Given the description of an element on the screen output the (x, y) to click on. 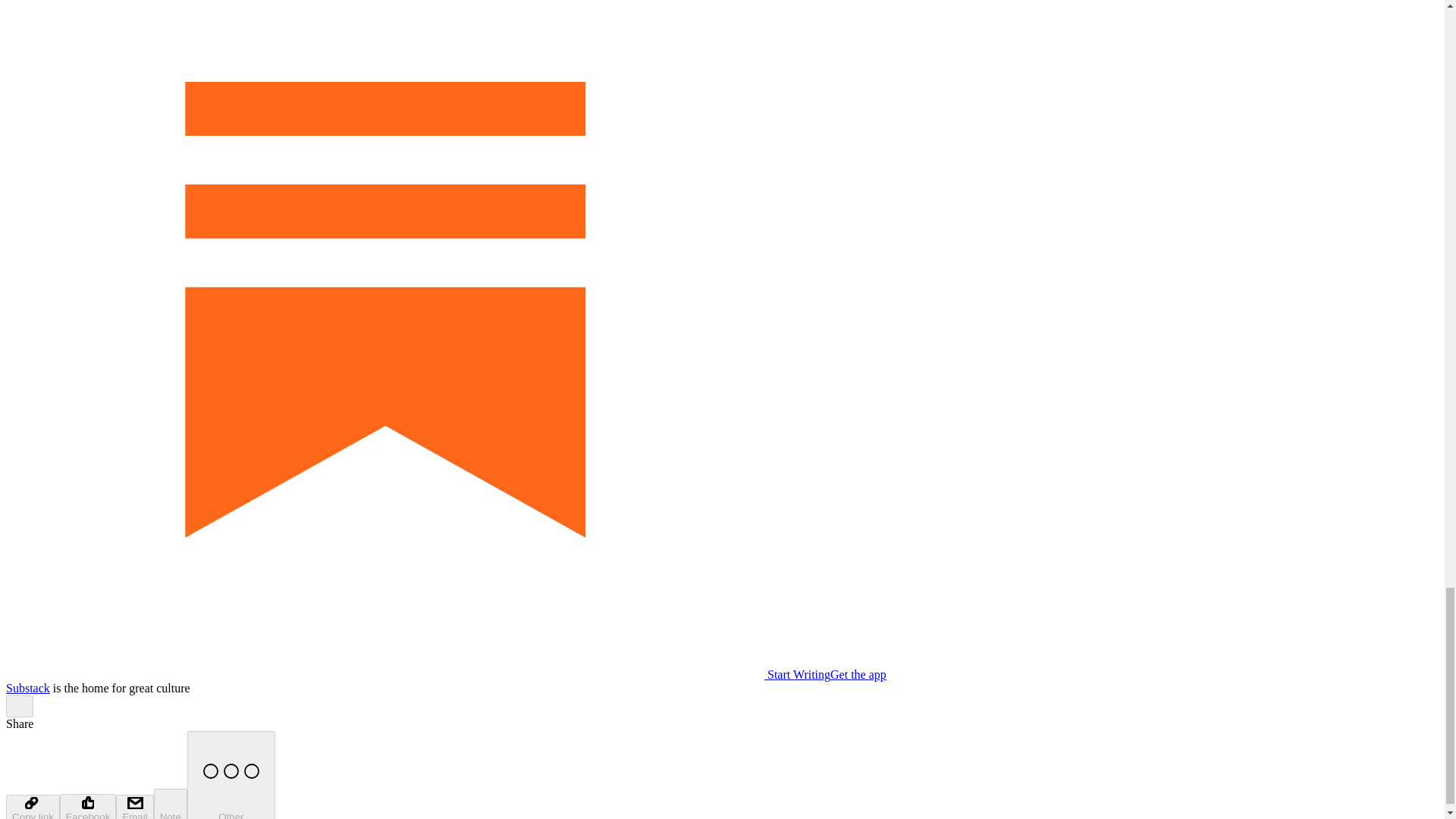
Get the app (857, 674)
Substack (27, 687)
Start Writing (417, 674)
